Given the description of an element on the screen output the (x, y) to click on. 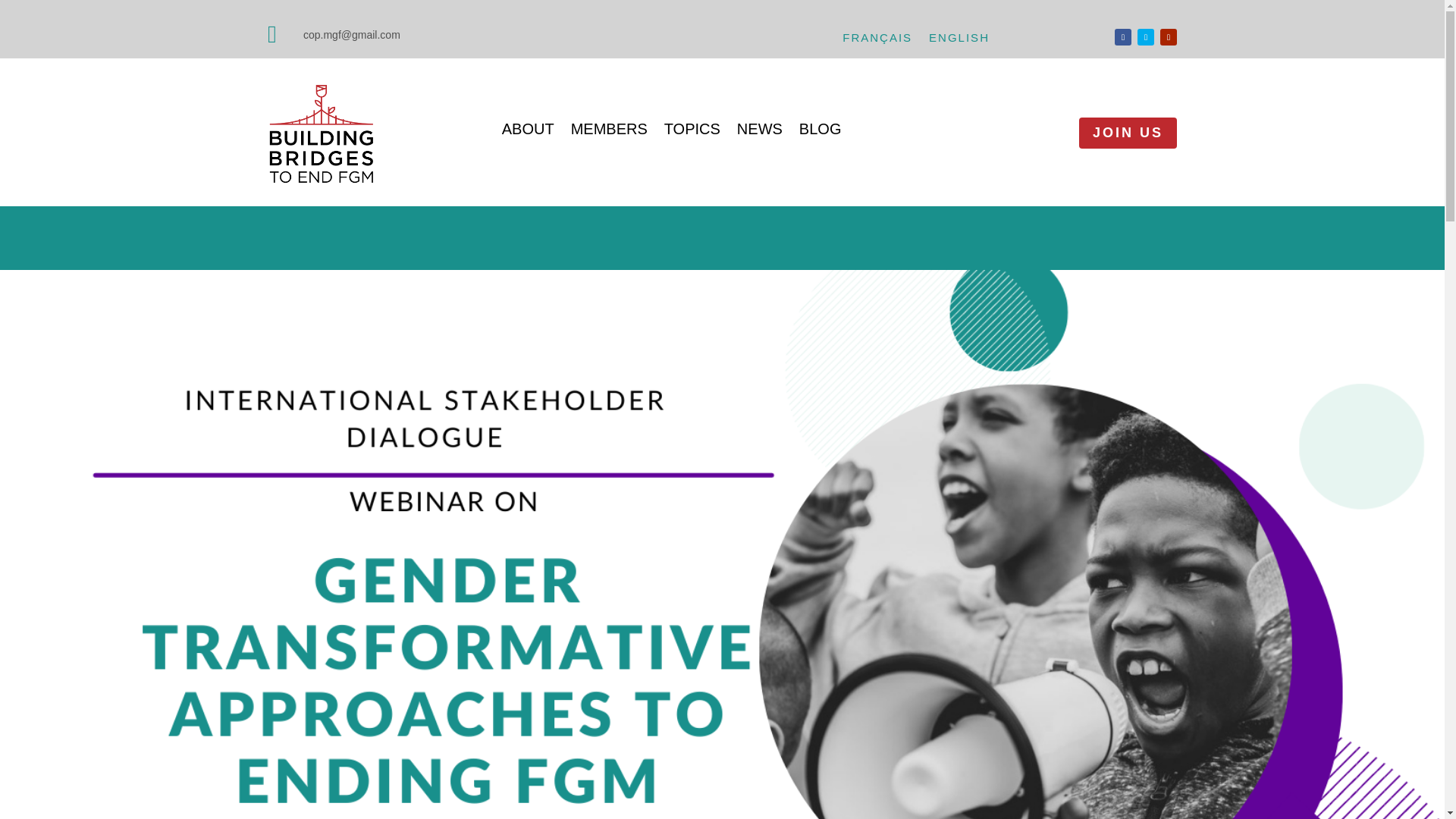
Follow on Twitter (1145, 36)
Follow on Facebook (1123, 36)
JOIN US (1127, 132)
TOPICS (691, 131)
MEMBERS (608, 131)
NEWS (759, 131)
Logo-Building-Bridges- (321, 135)
Follow on Youtube (1168, 36)
ENGLISH (959, 40)
ABOUT (528, 131)
BLOG (820, 131)
